Given the description of an element on the screen output the (x, y) to click on. 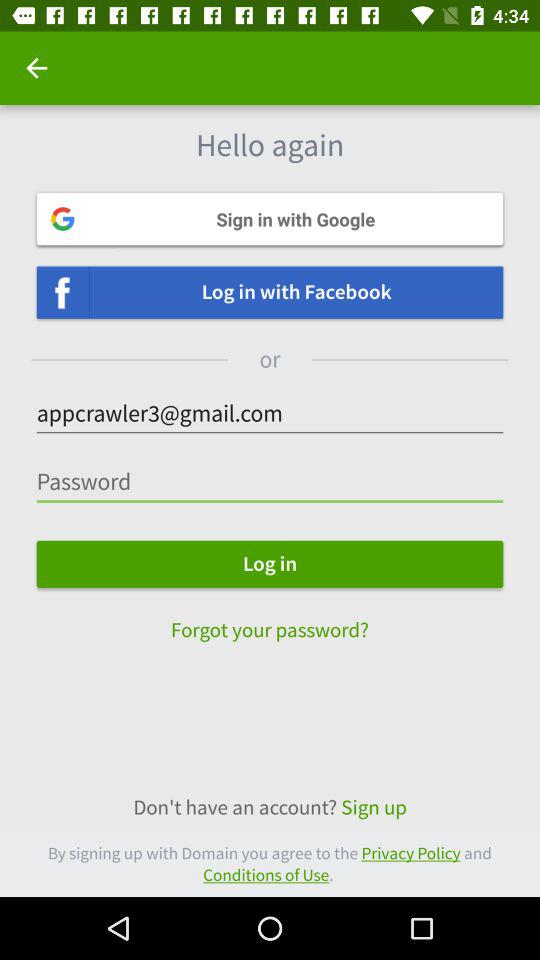
swipe until the don t have icon (269, 807)
